Given the description of an element on the screen output the (x, y) to click on. 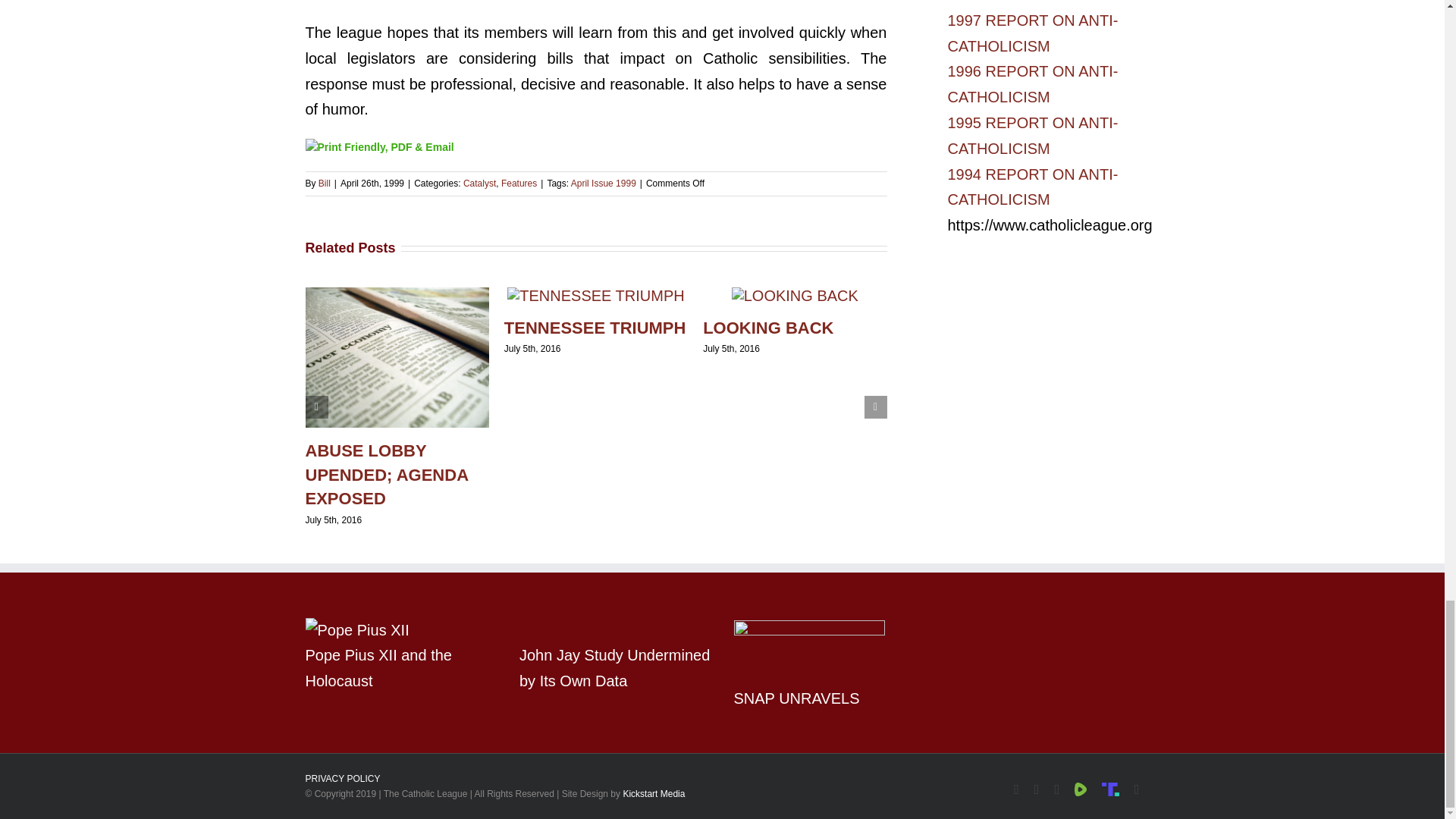
ABUSE LOBBY UPENDED; AGENDA EXPOSED (385, 474)
TENNESSEE TRIUMPH (594, 327)
LOOKING BACK (767, 327)
Posts by Bill (324, 183)
